Given the description of an element on the screen output the (x, y) to click on. 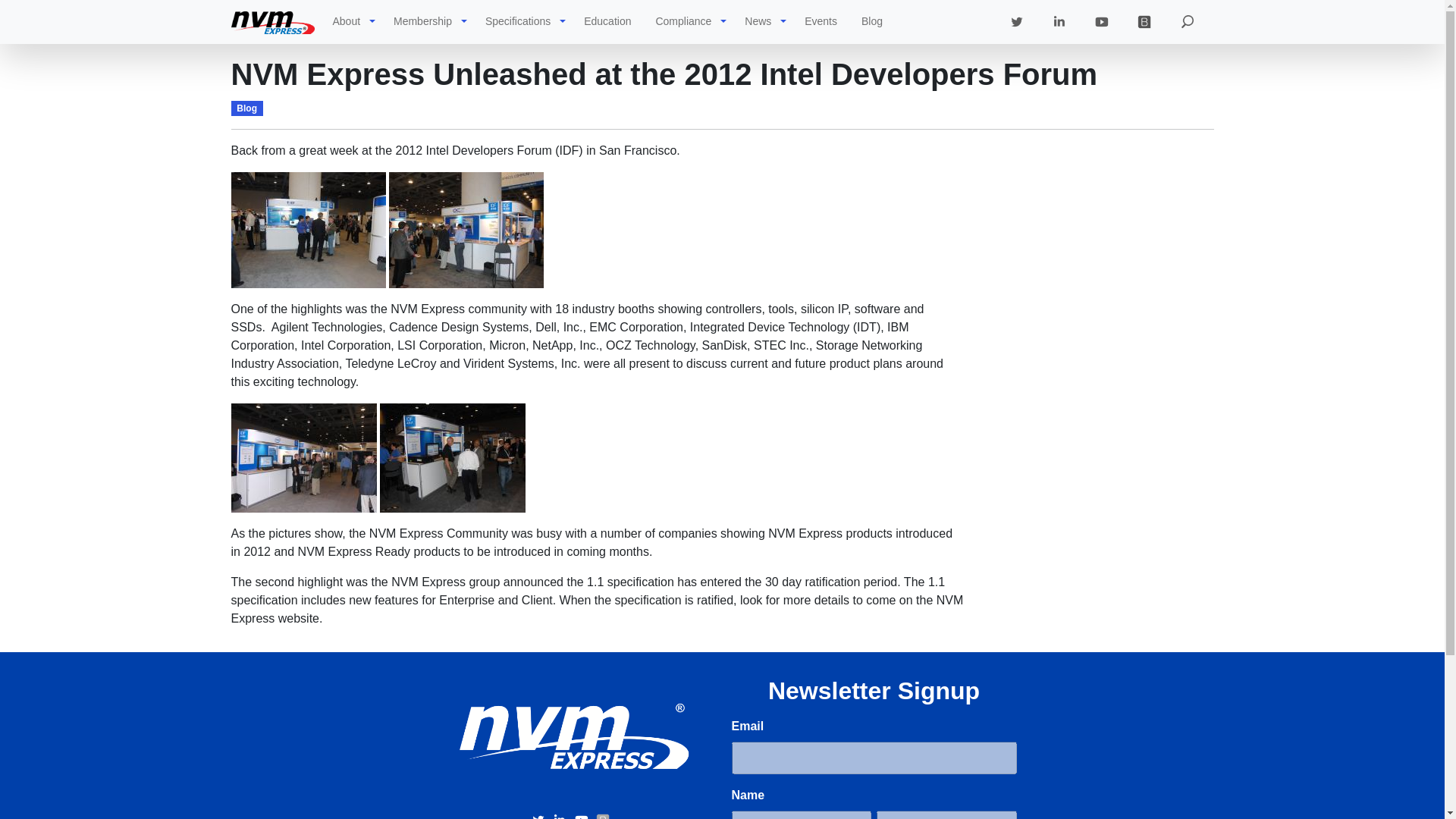
Compliance (683, 21)
YouTube (583, 816)
BrightTalk (602, 816)
Twitter (539, 816)
News (757, 21)
Education (607, 21)
LinkedIn (561, 816)
Specifications (517, 21)
Search (1185, 21)
Events (820, 21)
Twitter (1015, 21)
Blog (872, 21)
Membership (422, 21)
About (346, 21)
BrightTalk (1143, 21)
